Given the description of an element on the screen output the (x, y) to click on. 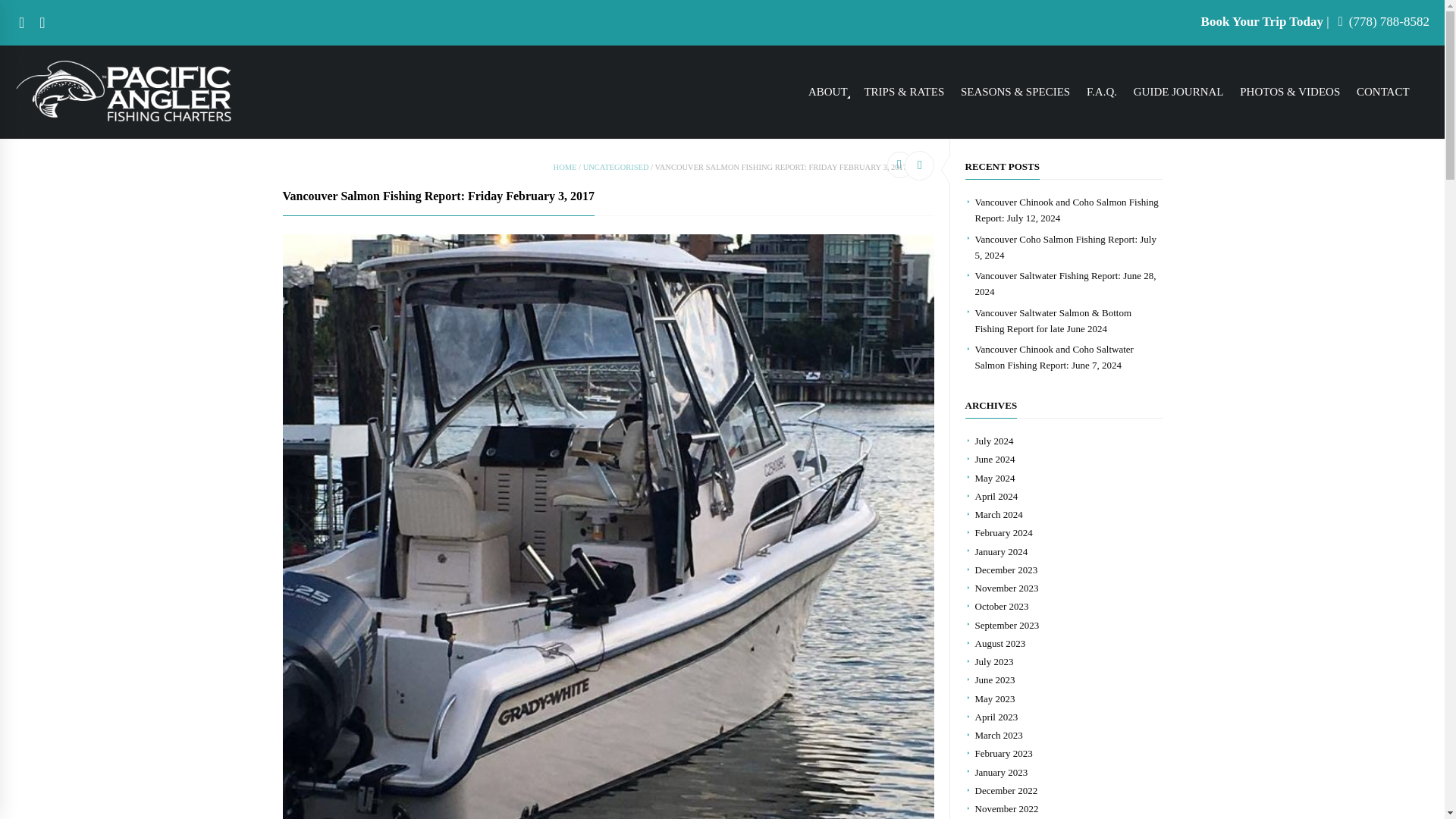
Vancouver Coho Salmon Fishing Report: July 5, 2024 (1065, 247)
January 2024 (1001, 551)
April 2024 (996, 496)
July 2024 (994, 440)
May 2024 (994, 478)
June 2024 (994, 459)
February 2024 (1003, 532)
March 2024 (999, 514)
Vancouver Saltwater Fishing Report: June 28, 2024 (1065, 283)
CONTACT (1382, 91)
GUIDE JOURNAL (1178, 91)
